Given the description of an element on the screen output the (x, y) to click on. 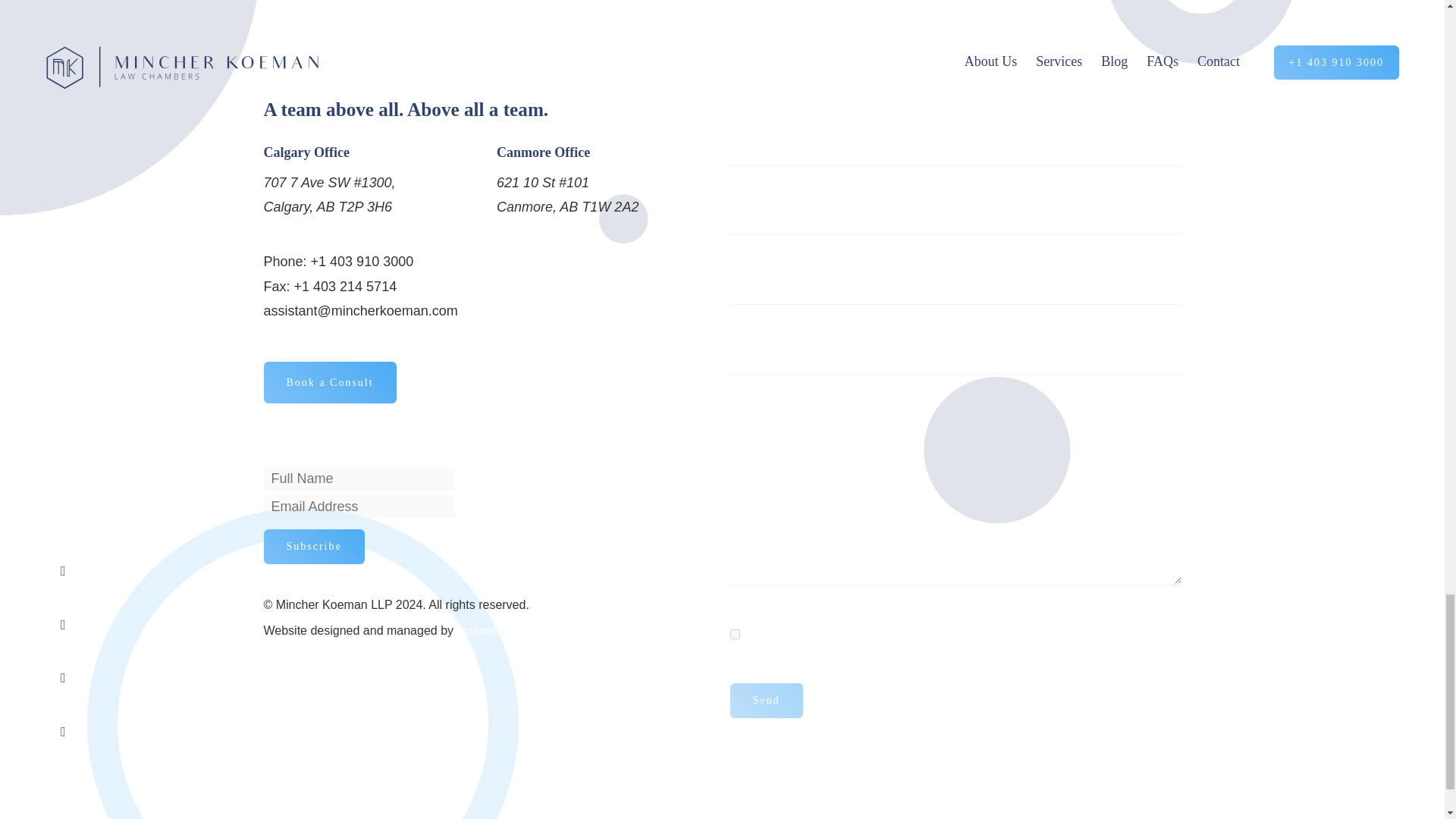
Privacy Policy (869, 634)
Subscribe (314, 546)
Umbrella Legal Marketing (525, 630)
Send (765, 700)
1 (734, 634)
Disclaimer (962, 634)
Send (765, 700)
Book a Consult (329, 382)
Subscribe (314, 546)
